Given the description of an element on the screen output the (x, y) to click on. 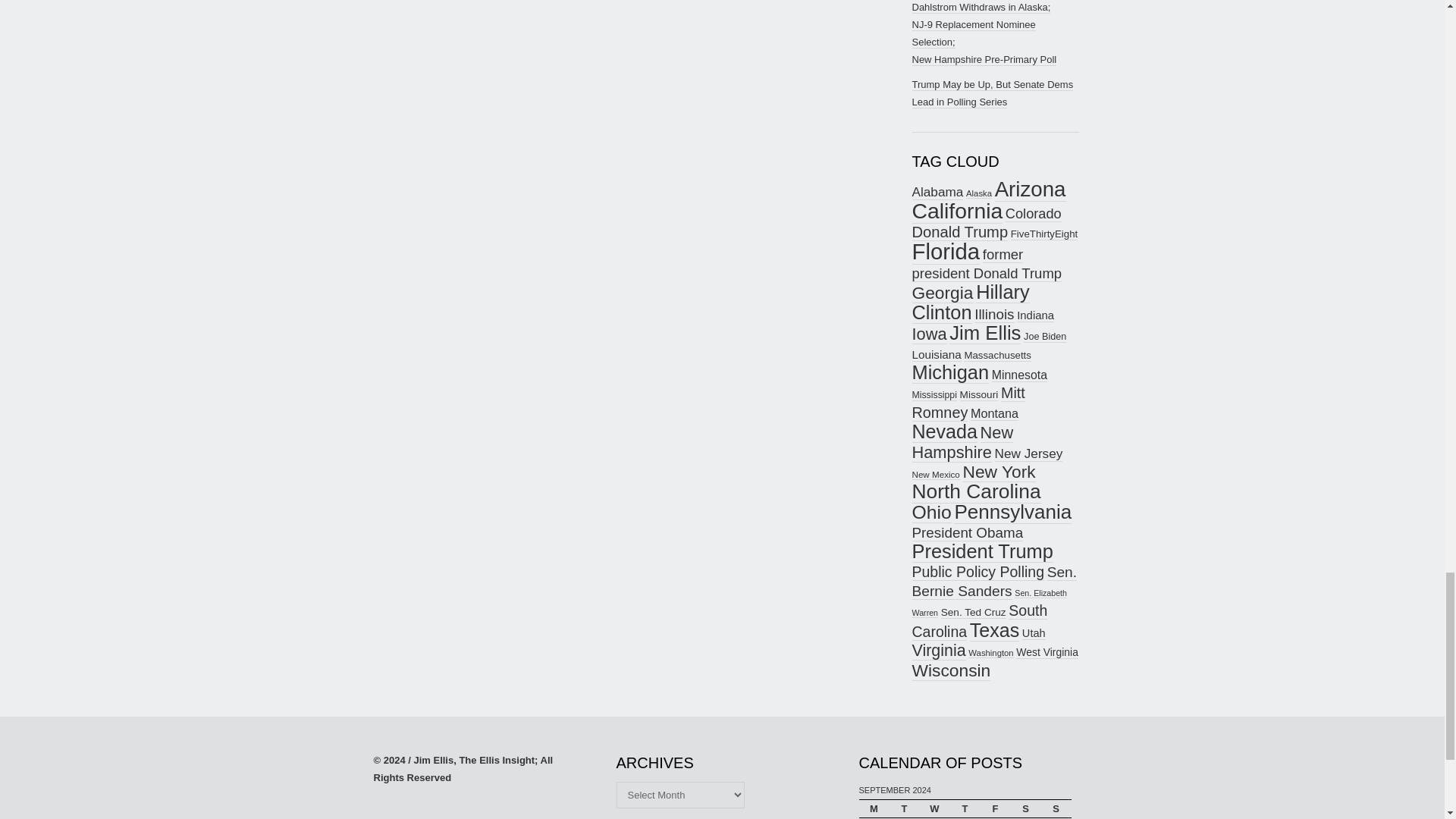
Saturday (1025, 808)
Tuesday (903, 808)
Wednesday (933, 808)
Monday (873, 808)
Sunday (1055, 808)
Friday (994, 808)
Thursday (964, 808)
